Given the description of an element on the screen output the (x, y) to click on. 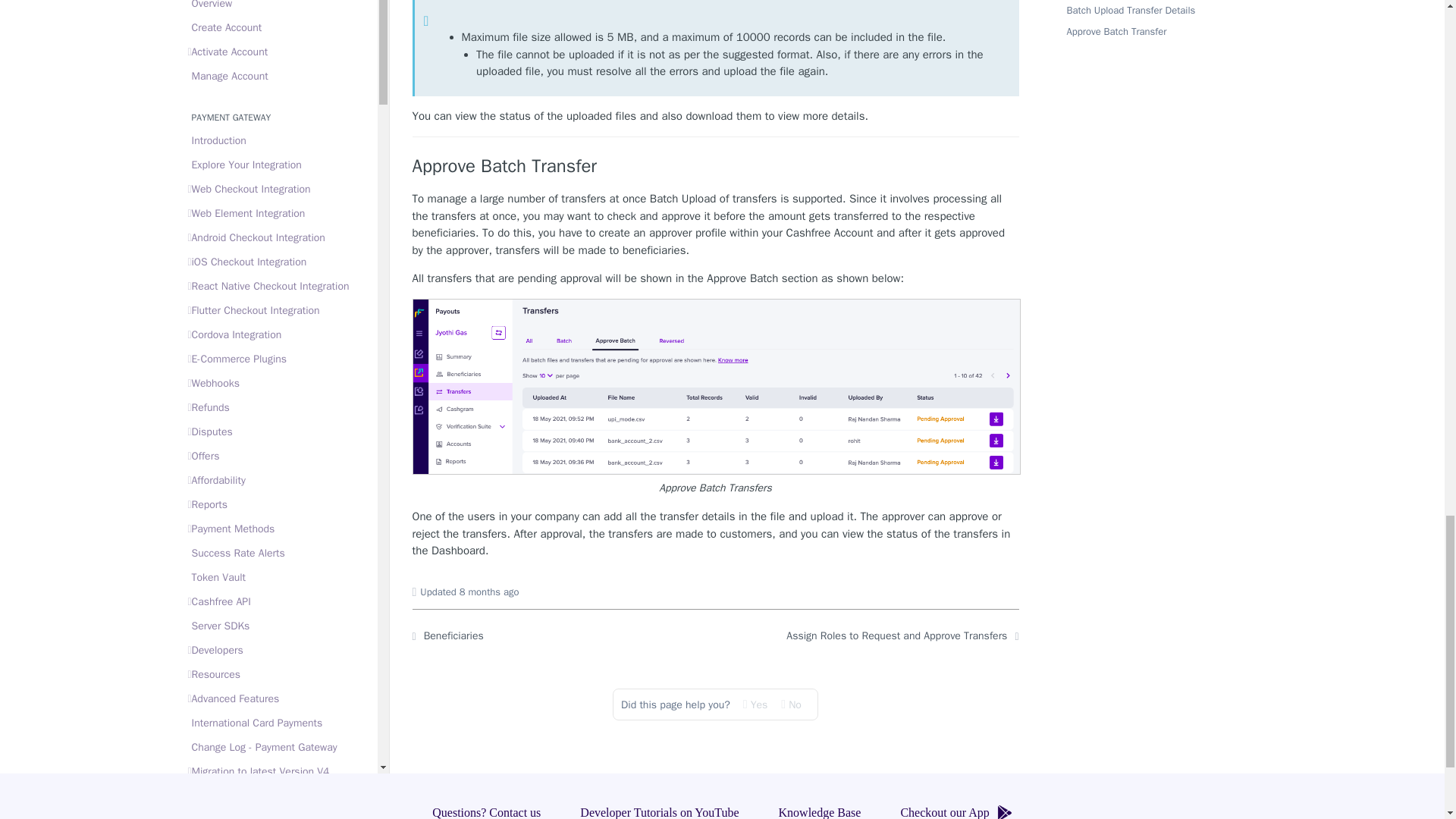
Approve Batch Transfer (715, 166)
